Given the description of an element on the screen output the (x, y) to click on. 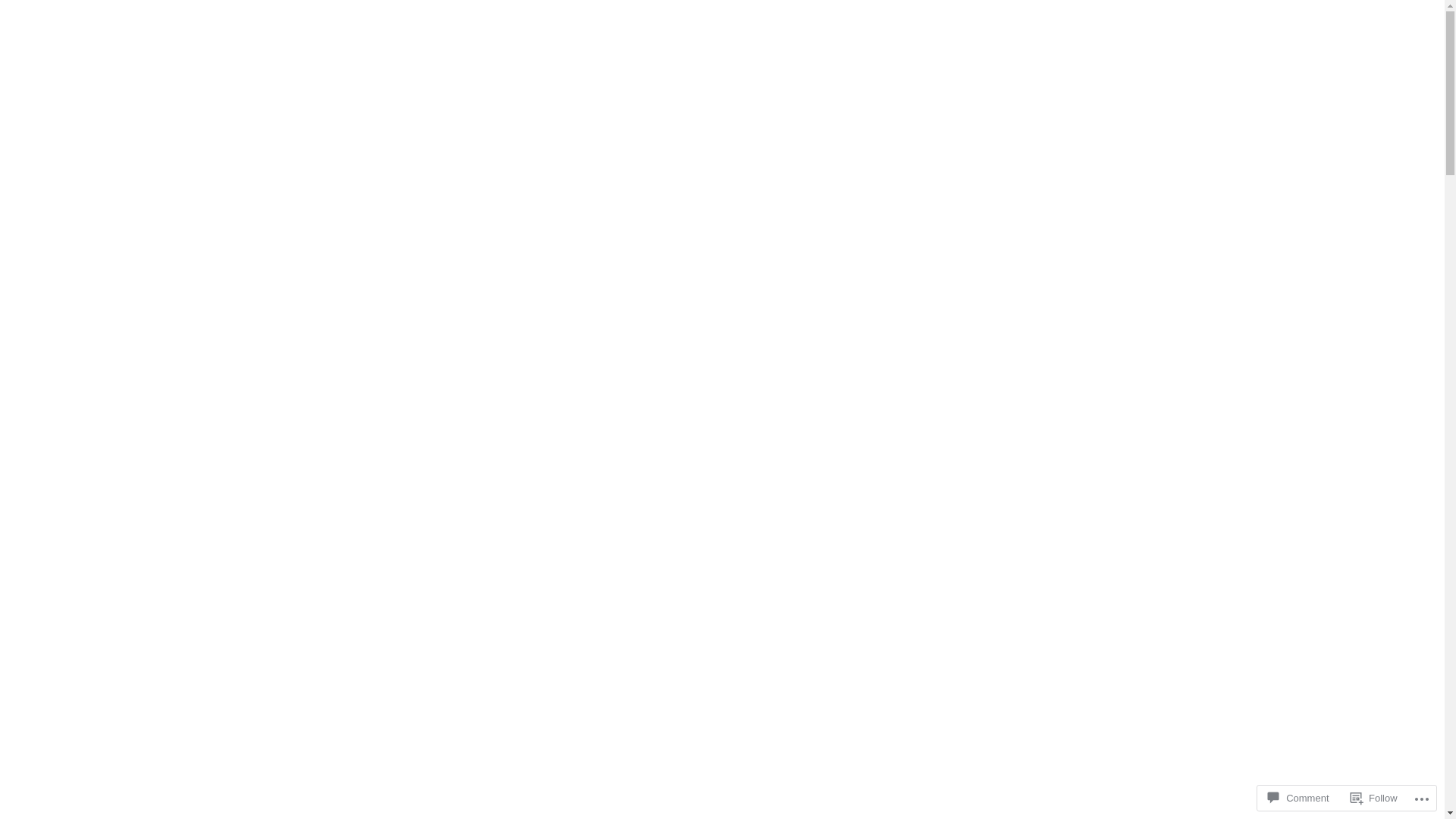
Comment Element type: text (1297, 797)
Follow Element type: text (1373, 797)
